Given the description of an element on the screen output the (x, y) to click on. 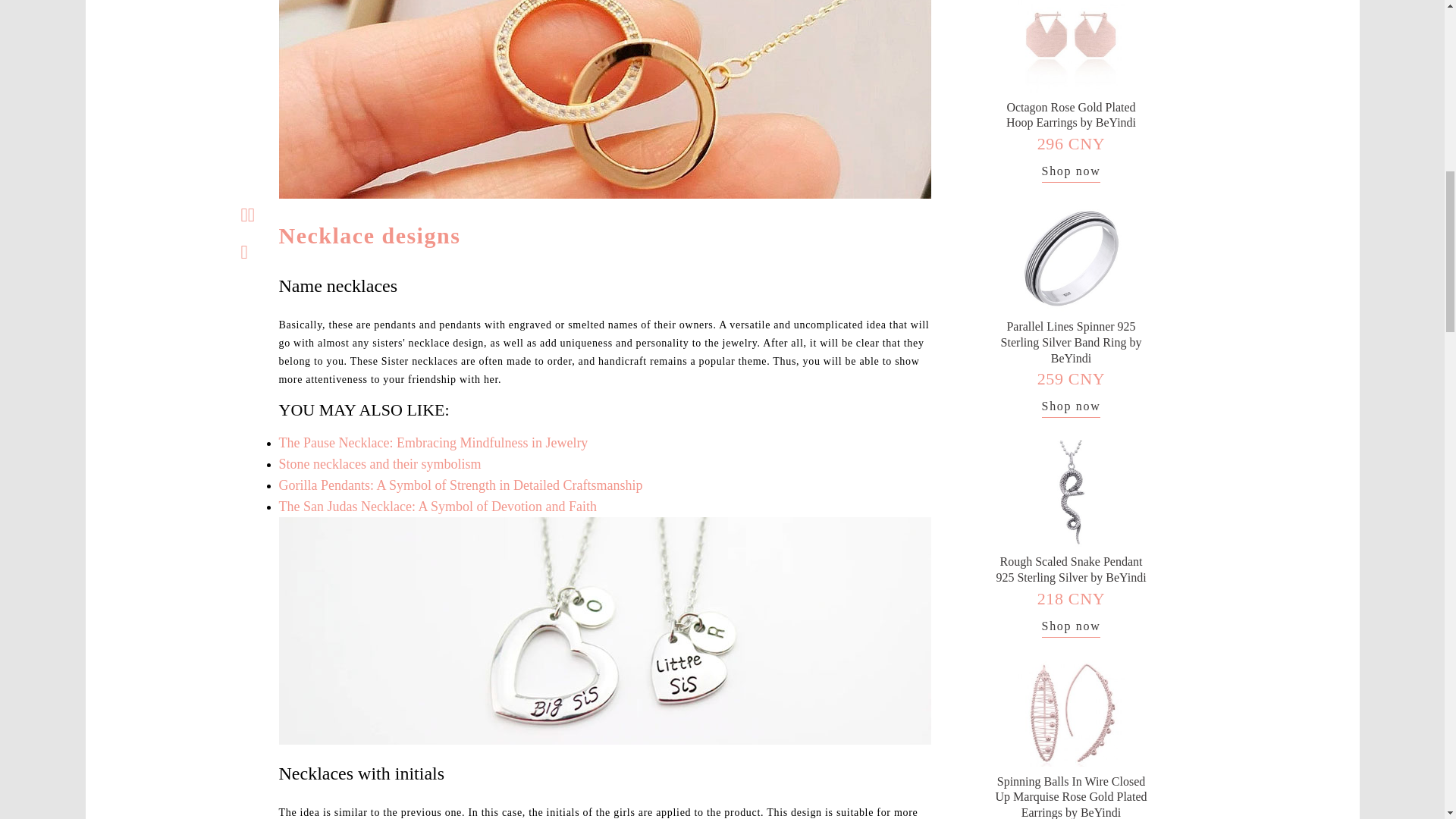
Shop now (1071, 628)
Rough Scaled Snake Pendant 925 Sterling Silver by BeYindi (1070, 569)
Shop now (1071, 172)
Octagon Rose Gold Plated Hoop Earrings by BeYindi (1070, 114)
Shop now (1071, 407)
